Given the description of an element on the screen output the (x, y) to click on. 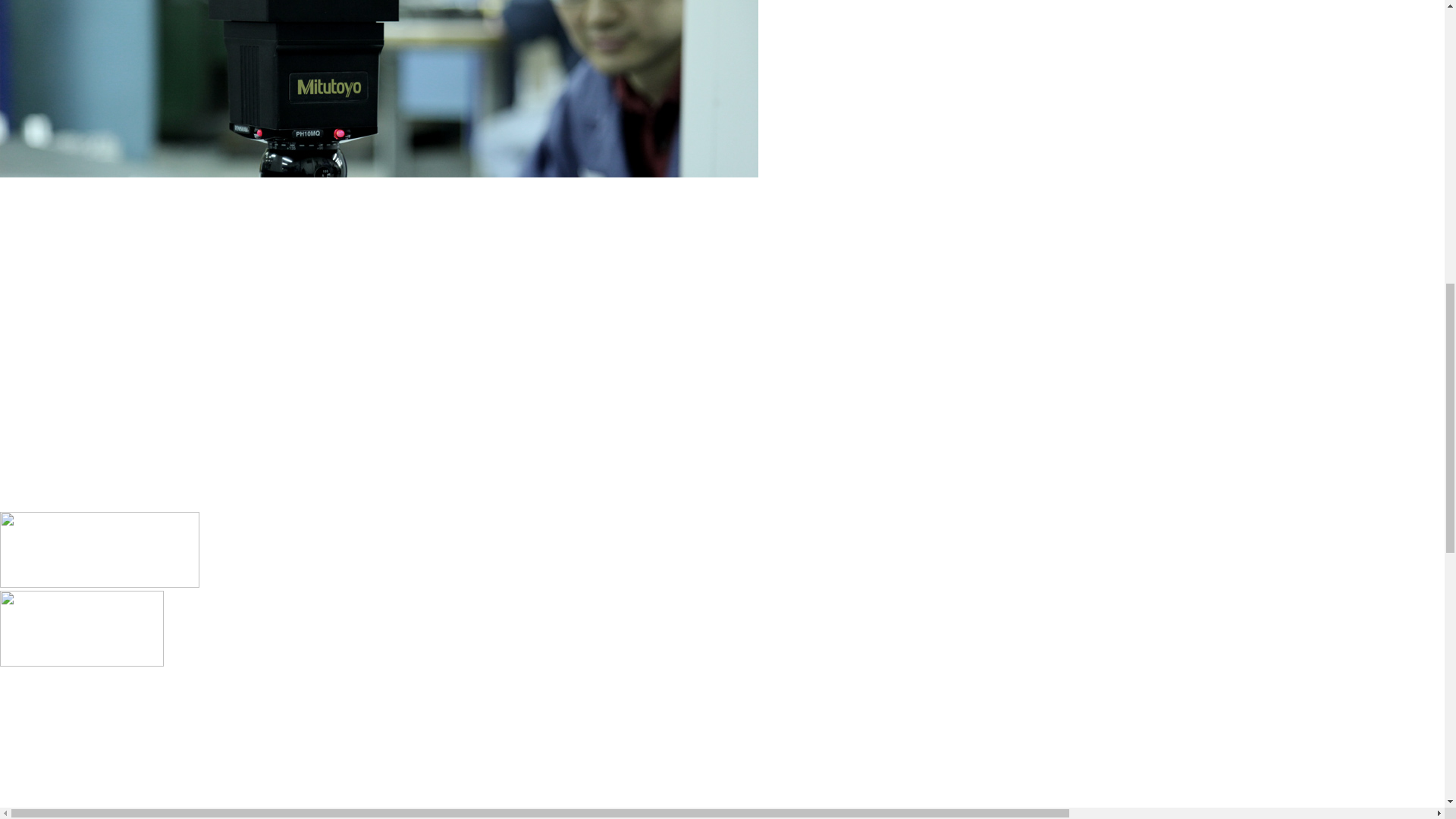
nadcap (99, 549)
bureau-veritas (81, 628)
